Given the description of an element on the screen output the (x, y) to click on. 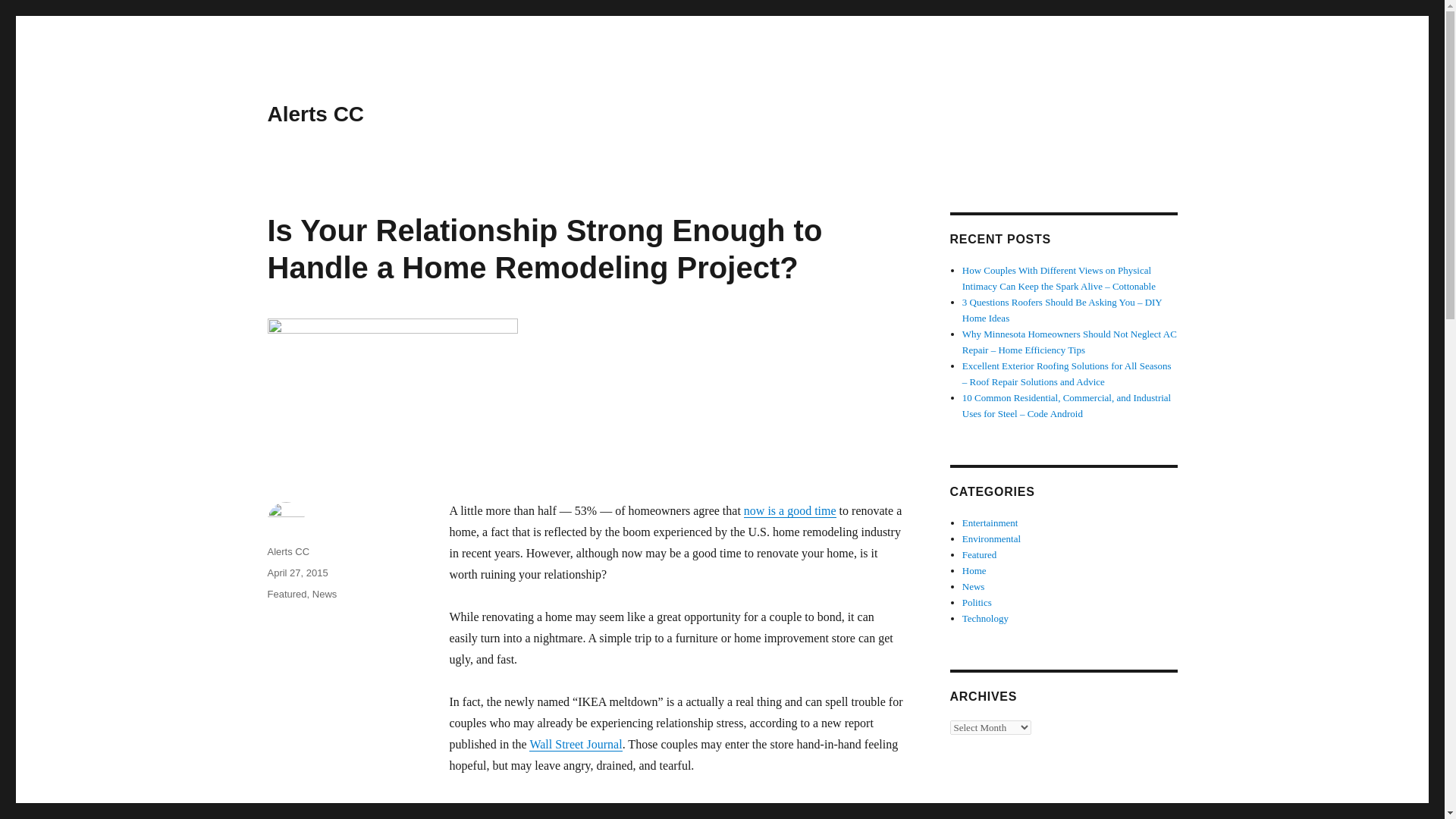
Entertainment (989, 522)
Alerts CC (315, 114)
Alerts CC (287, 551)
Wall Street Journal (575, 744)
Technology (985, 618)
News (325, 593)
News (973, 586)
Featured (285, 593)
Home (974, 570)
Politics (976, 602)
